Given the description of an element on the screen output the (x, y) to click on. 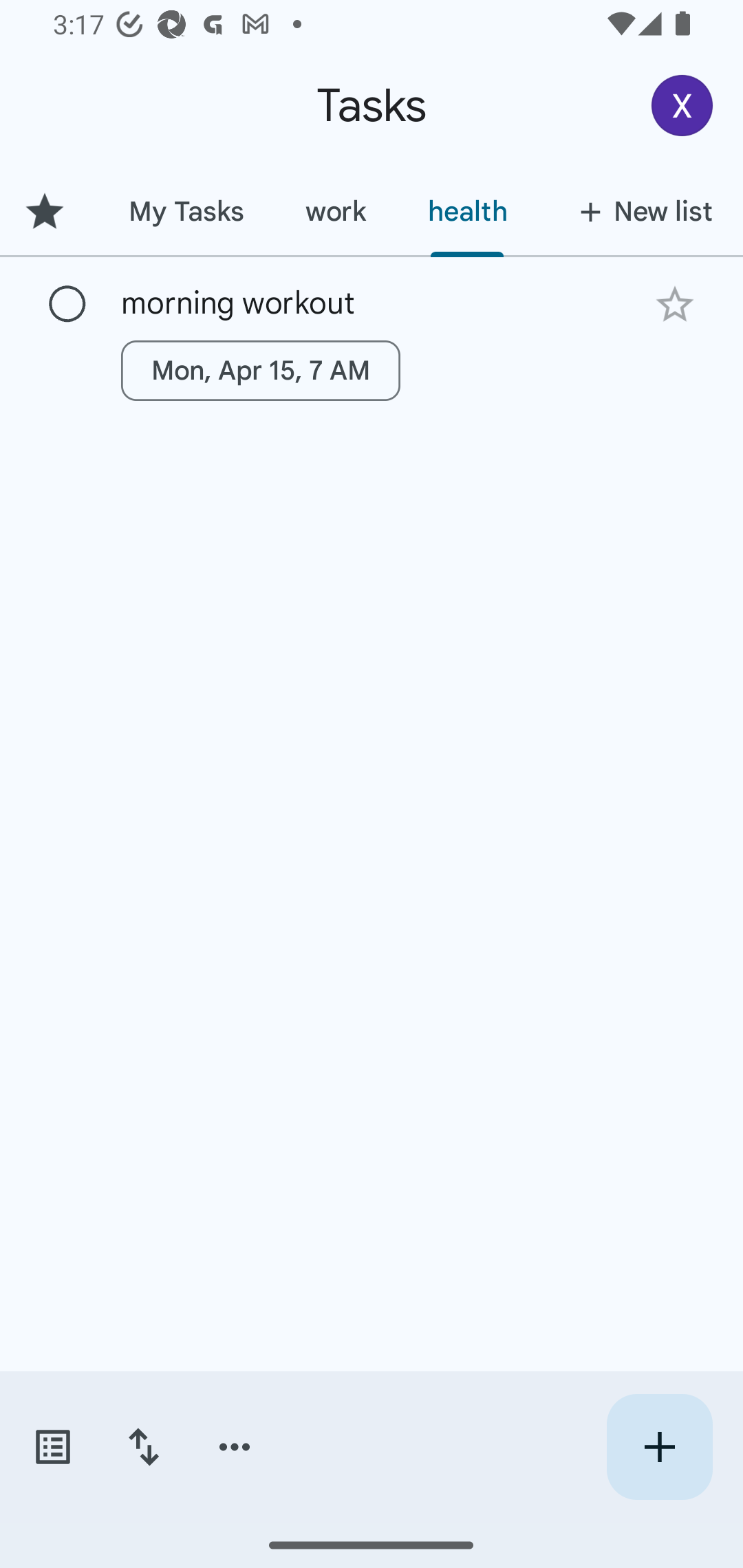
Starred (48, 211)
My Tasks (185, 211)
work (335, 211)
New list (640, 211)
Add star (674, 303)
Mark as complete (67, 304)
Mon, Apr 15, 7 AM (260, 369)
Switch task lists (52, 1447)
Create new task (659, 1446)
Change sort order (143, 1446)
More options (234, 1446)
